Given the description of an element on the screen output the (x, y) to click on. 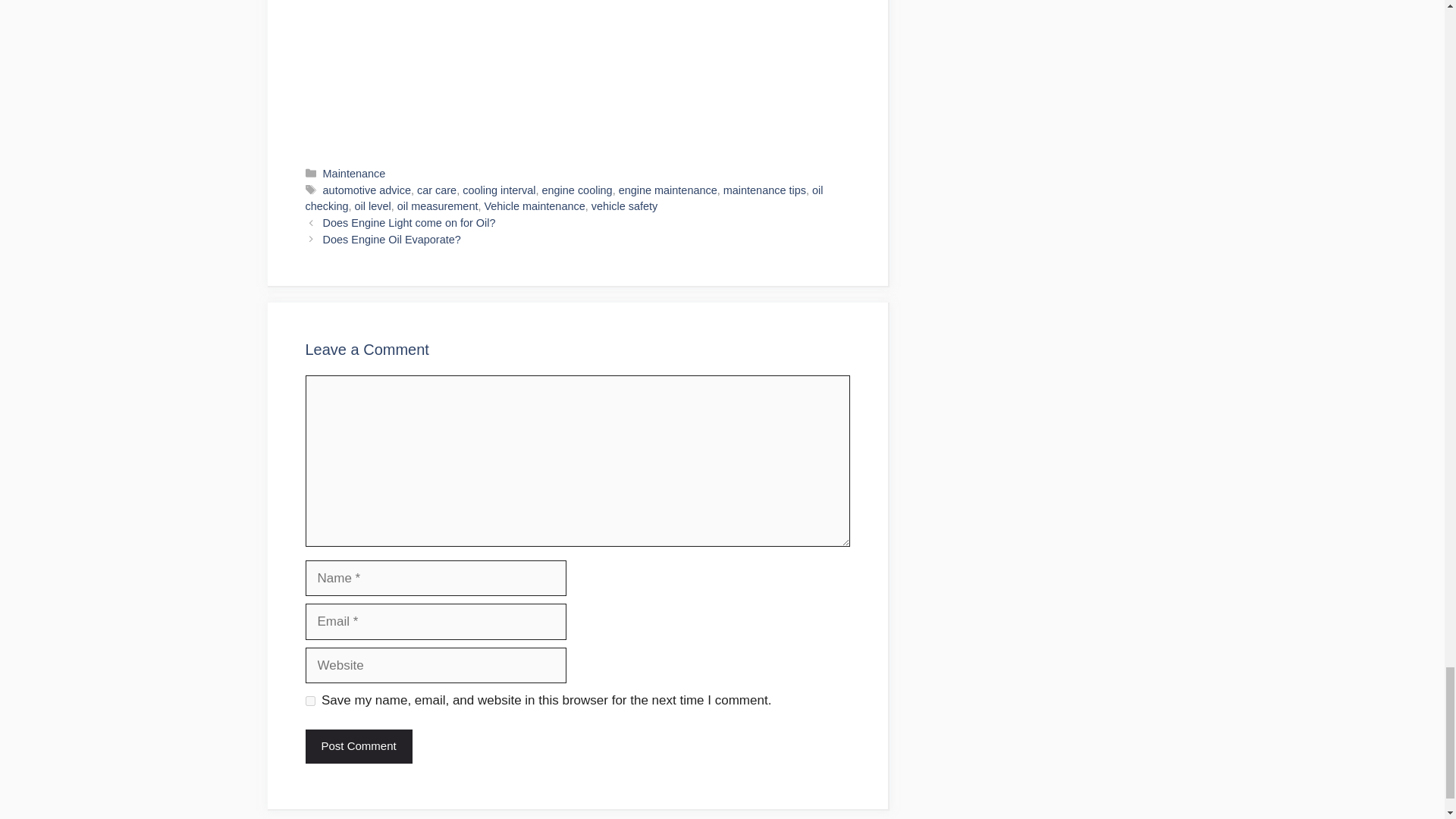
engine maintenance (667, 190)
engine cooling (576, 190)
oil level (373, 205)
oil measurement (438, 205)
yes (309, 700)
Post Comment (358, 746)
vehicle safety (624, 205)
maintenance tips (764, 190)
Maintenance (354, 173)
cooling interval (499, 190)
automotive advice (366, 190)
Vehicle maintenance (534, 205)
car care (436, 190)
oil checking (563, 198)
